Given the description of an element on the screen output the (x, y) to click on. 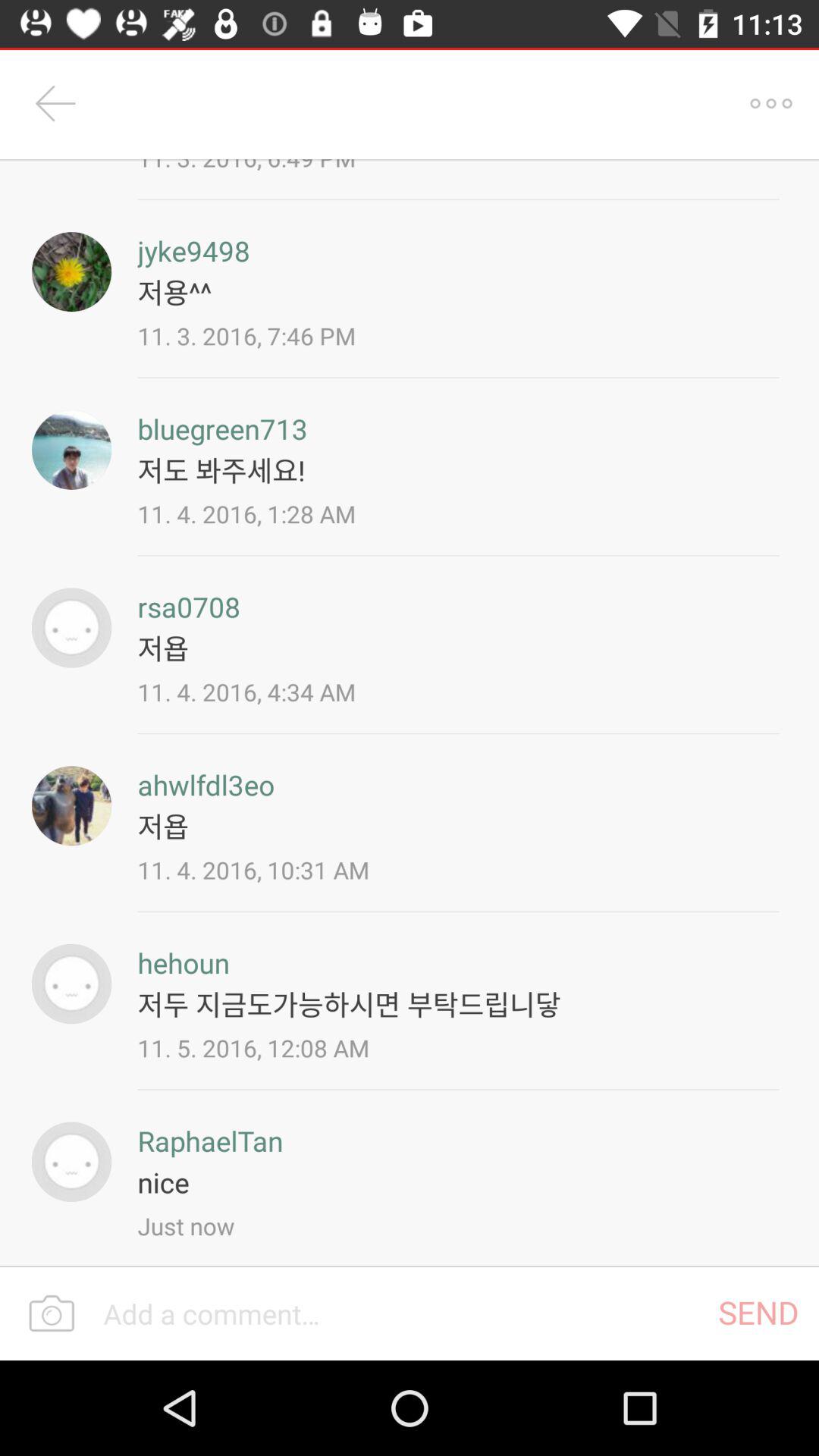
option to open the camera (51, 1314)
